Given the description of an element on the screen output the (x, y) to click on. 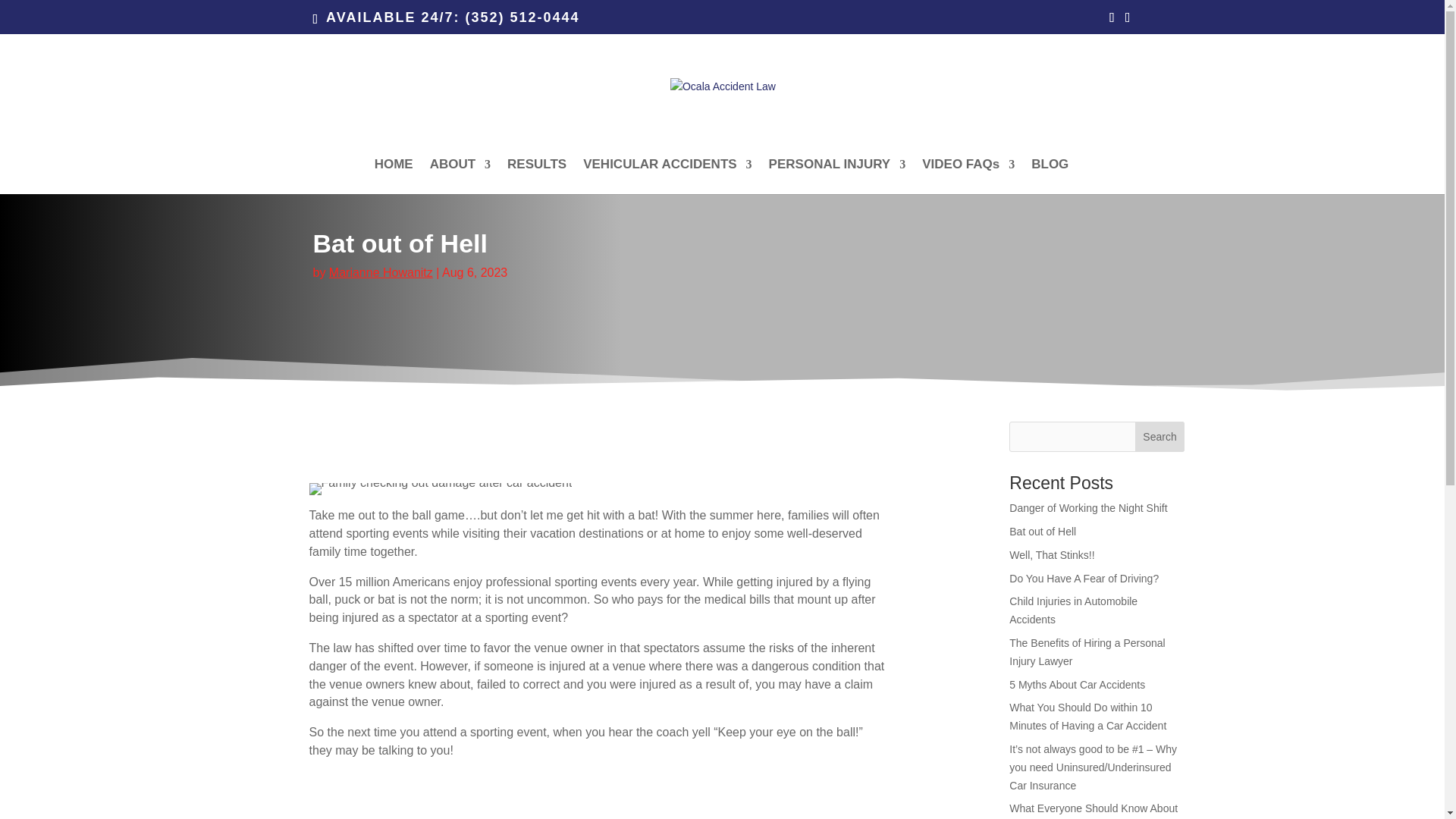
RESULTS (536, 176)
VEHICULAR ACCIDENTS (667, 176)
Marianne Howanitz (380, 272)
Do You Have A Fear of Driving? (1083, 578)
Danger of Working the Night Shift (1088, 508)
BLOG (1049, 176)
ABOUT (459, 176)
PERSONAL INJURY (836, 176)
VIDEO FAQs (967, 176)
Posts by Marianne Howanitz (380, 272)
Bat out of Hell (1042, 531)
Search (1160, 436)
Well, That Stinks!! (1051, 554)
HOME (393, 176)
